Given the description of an element on the screen output the (x, y) to click on. 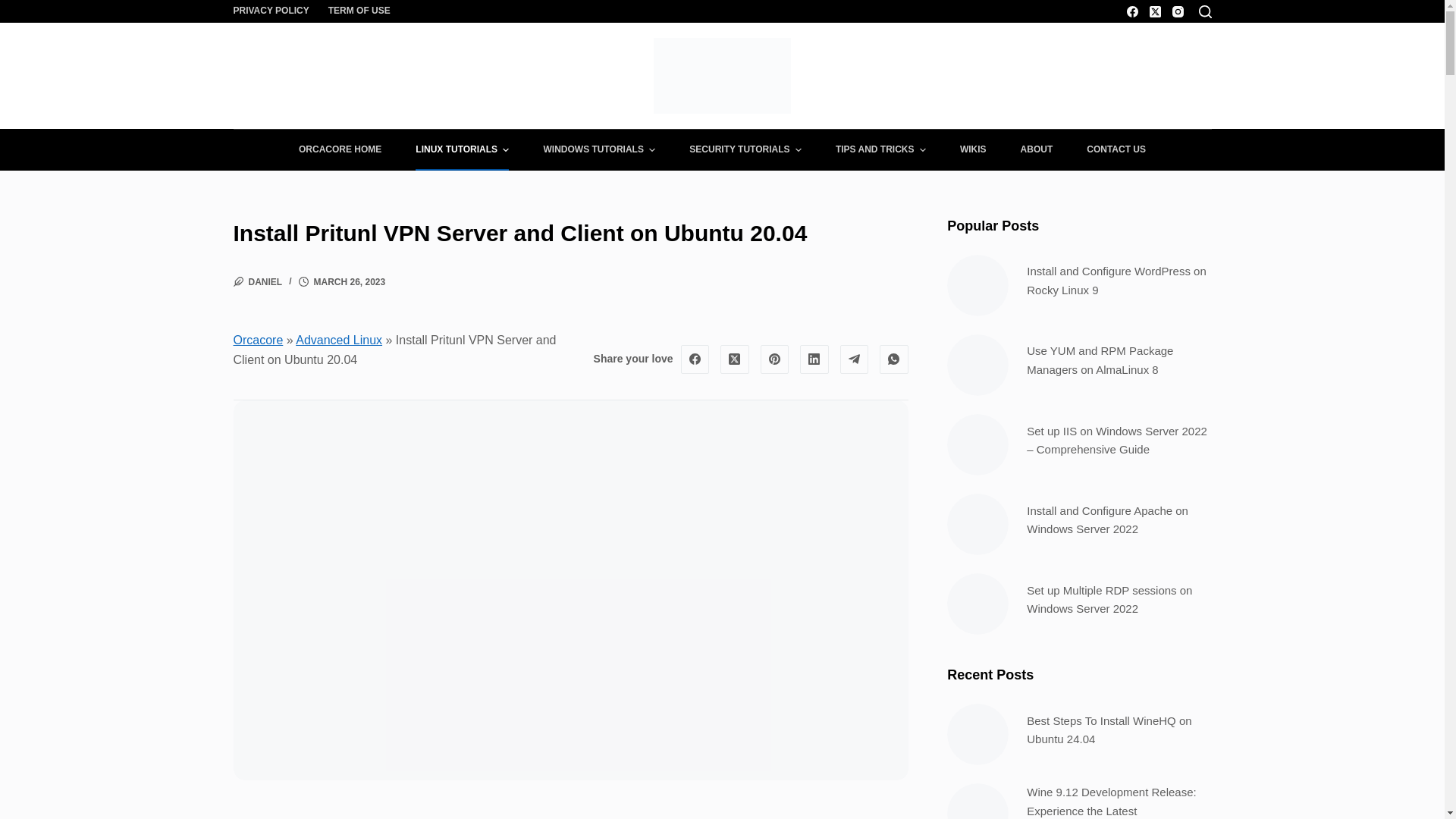
Install Pritunl VPN Server and Client on Ubuntu 20.04 (570, 233)
TERM OF USE (354, 11)
ORCACORE HOME (339, 149)
WINDOWS TUTORIALS (598, 149)
Skip to content (15, 7)
PRIVACY POLICY (275, 11)
LINUX TUTORIALS (461, 149)
Posts by daniel (265, 281)
